Given the description of an element on the screen output the (x, y) to click on. 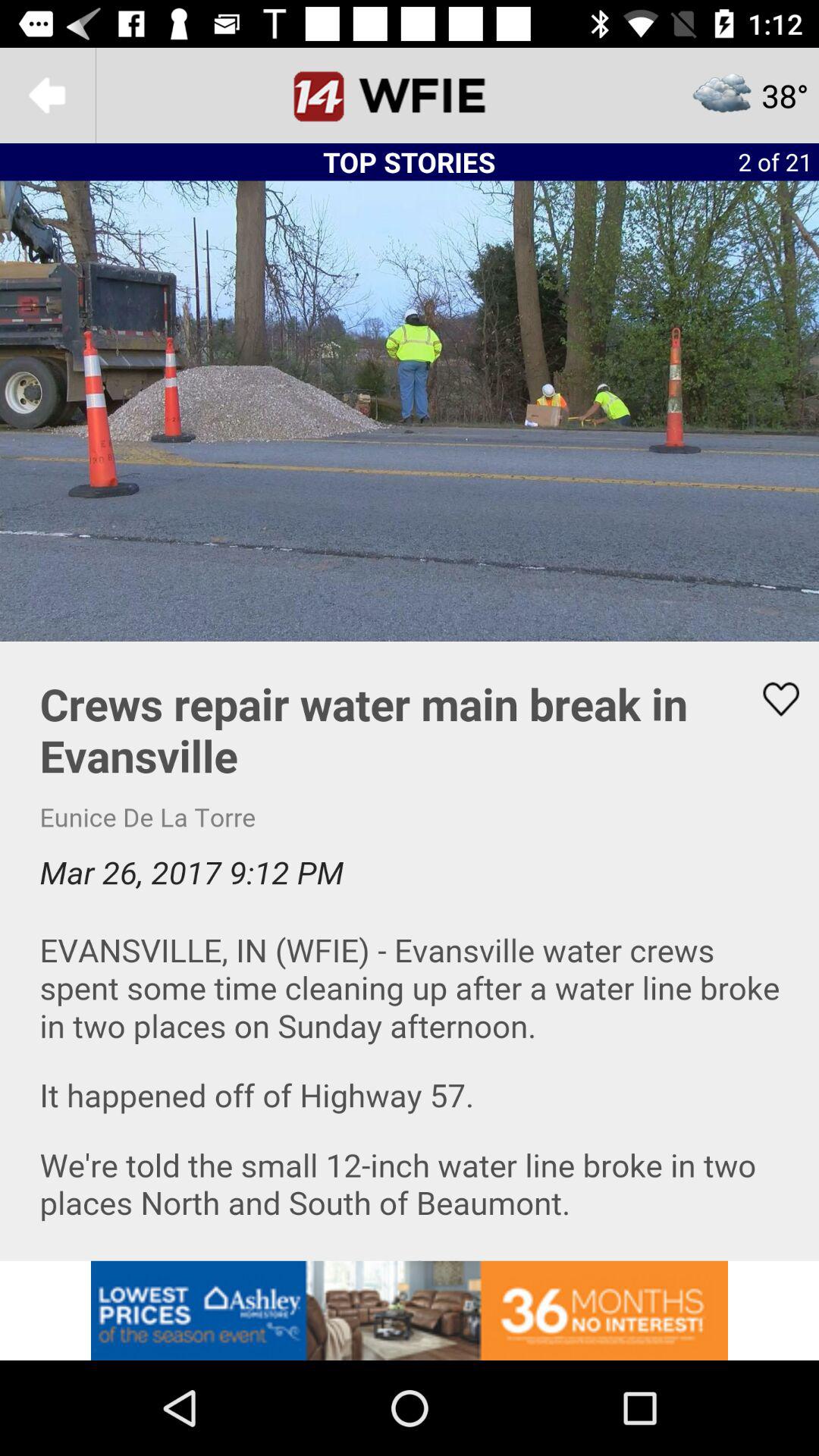
text page (409, 950)
